Given the description of an element on the screen output the (x, y) to click on. 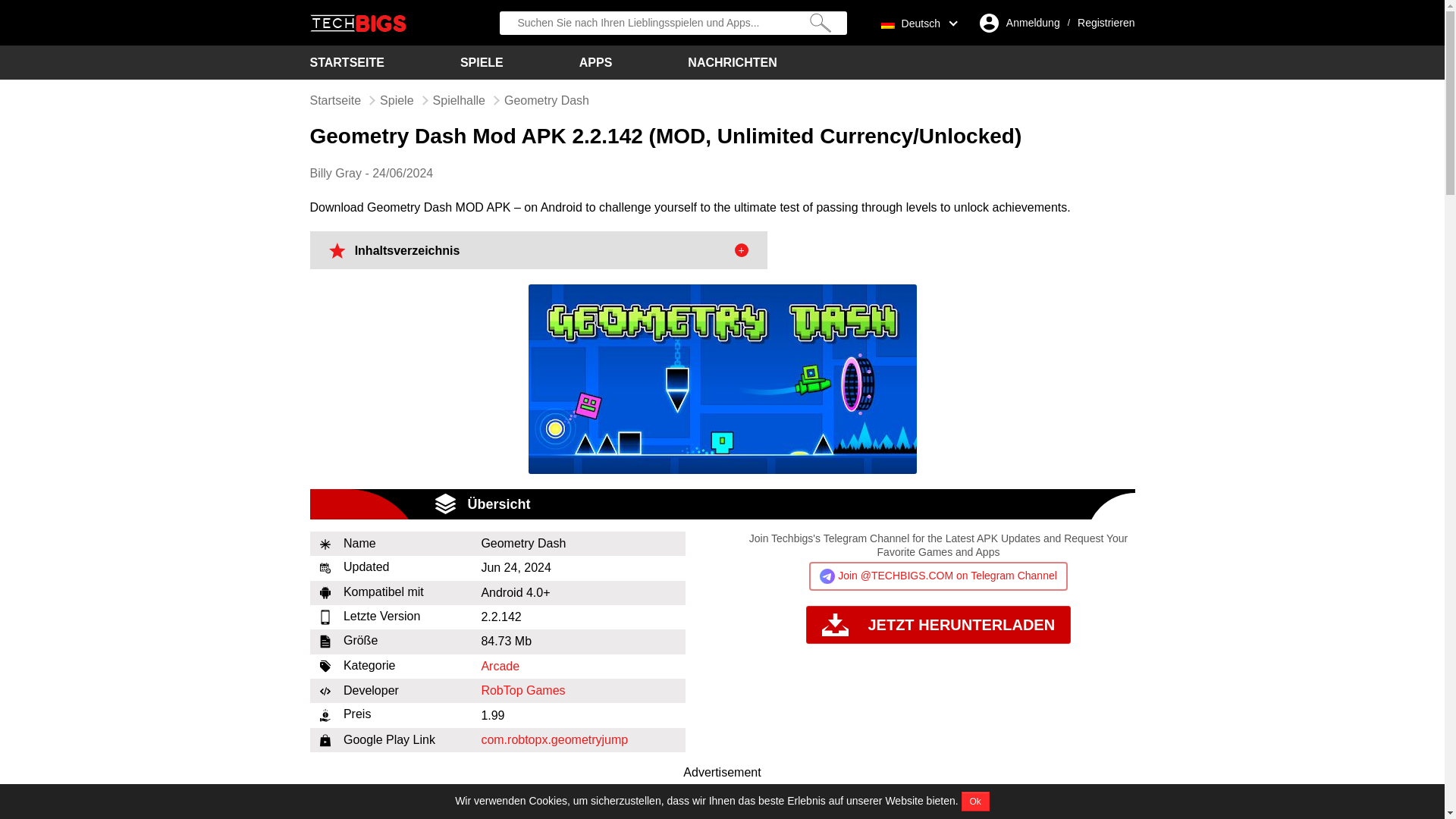
NACHRICHTEN (731, 62)
SPIELE (481, 62)
Arcade (499, 666)
Startseite (334, 100)
APPS (595, 62)
STARTSEITE (346, 62)
Anmeldung (1032, 23)
JETZT HERUNTERLADEN (938, 625)
NACHRICHTEN (731, 62)
Spiele (396, 100)
com.robtopx.geometryjump (553, 739)
Deutsch (914, 22)
Startseite (346, 62)
Apps (595, 62)
Registrieren (1105, 23)
